Given the description of an element on the screen output the (x, y) to click on. 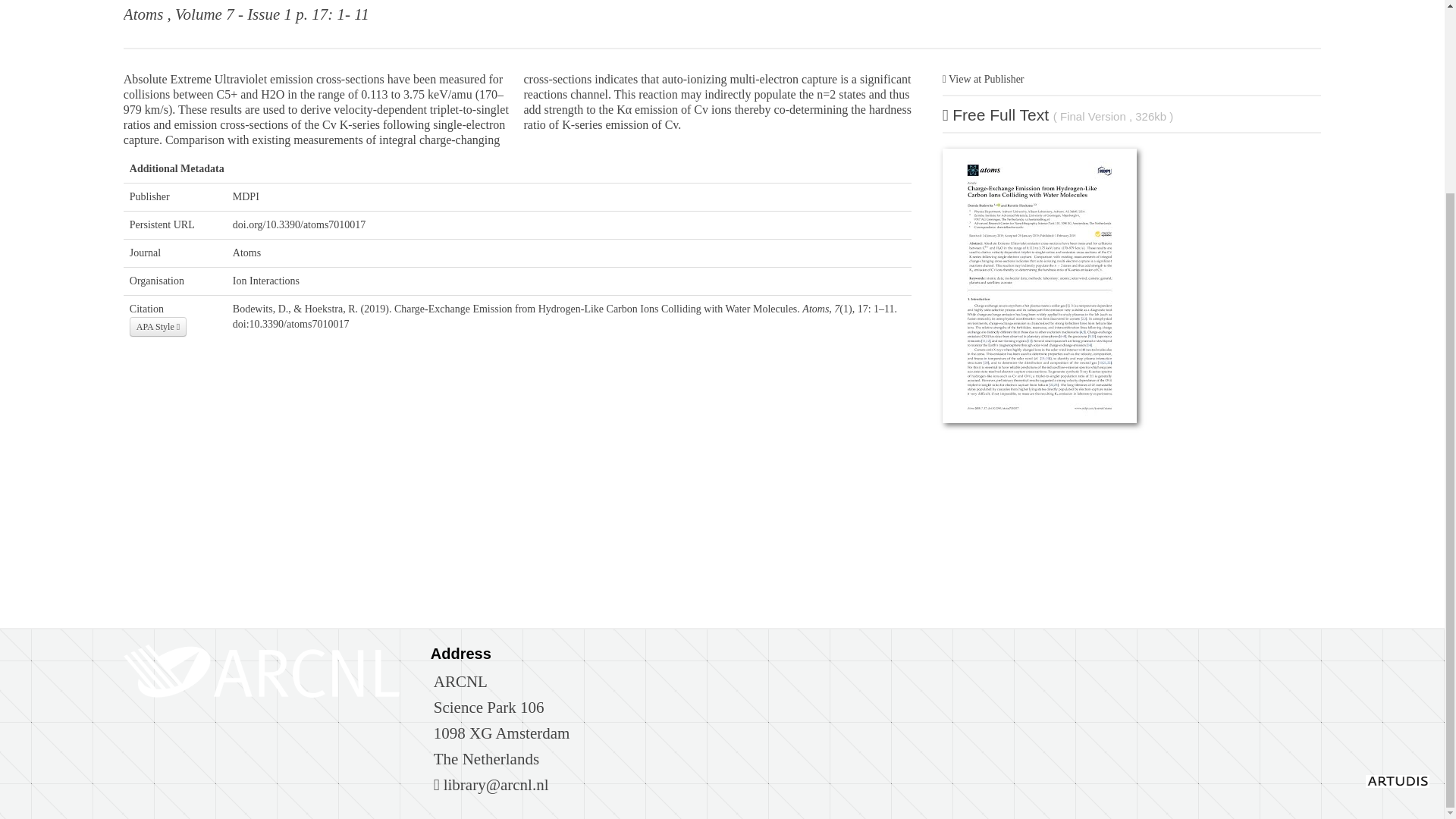
Atoms (246, 252)
Atoms (143, 13)
Ion Interactions (265, 280)
MDPI (245, 196)
ARCNL (460, 681)
The Netherlands (485, 759)
Science Park 106 (488, 707)
1098 XG Amsterdam (501, 732)
APA Style (157, 326)
View at Publisher (983, 79)
